Given the description of an element on the screen output the (x, y) to click on. 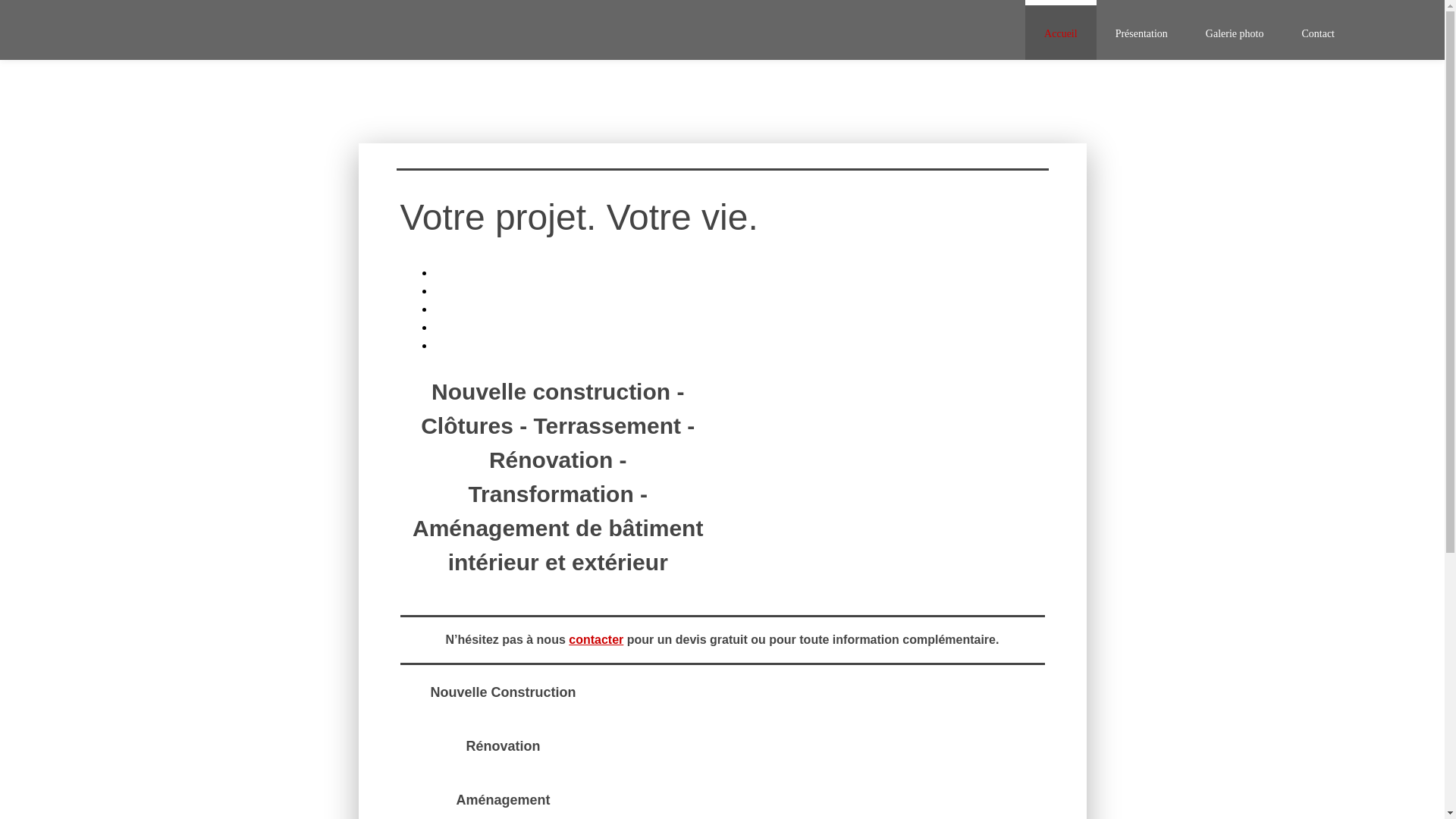
contacter Element type: text (595, 639)
Contact Element type: text (1317, 29)
Accueil Element type: text (1060, 29)
Galerie photo Element type: text (1234, 29)
